Given the description of an element on the screen output the (x, y) to click on. 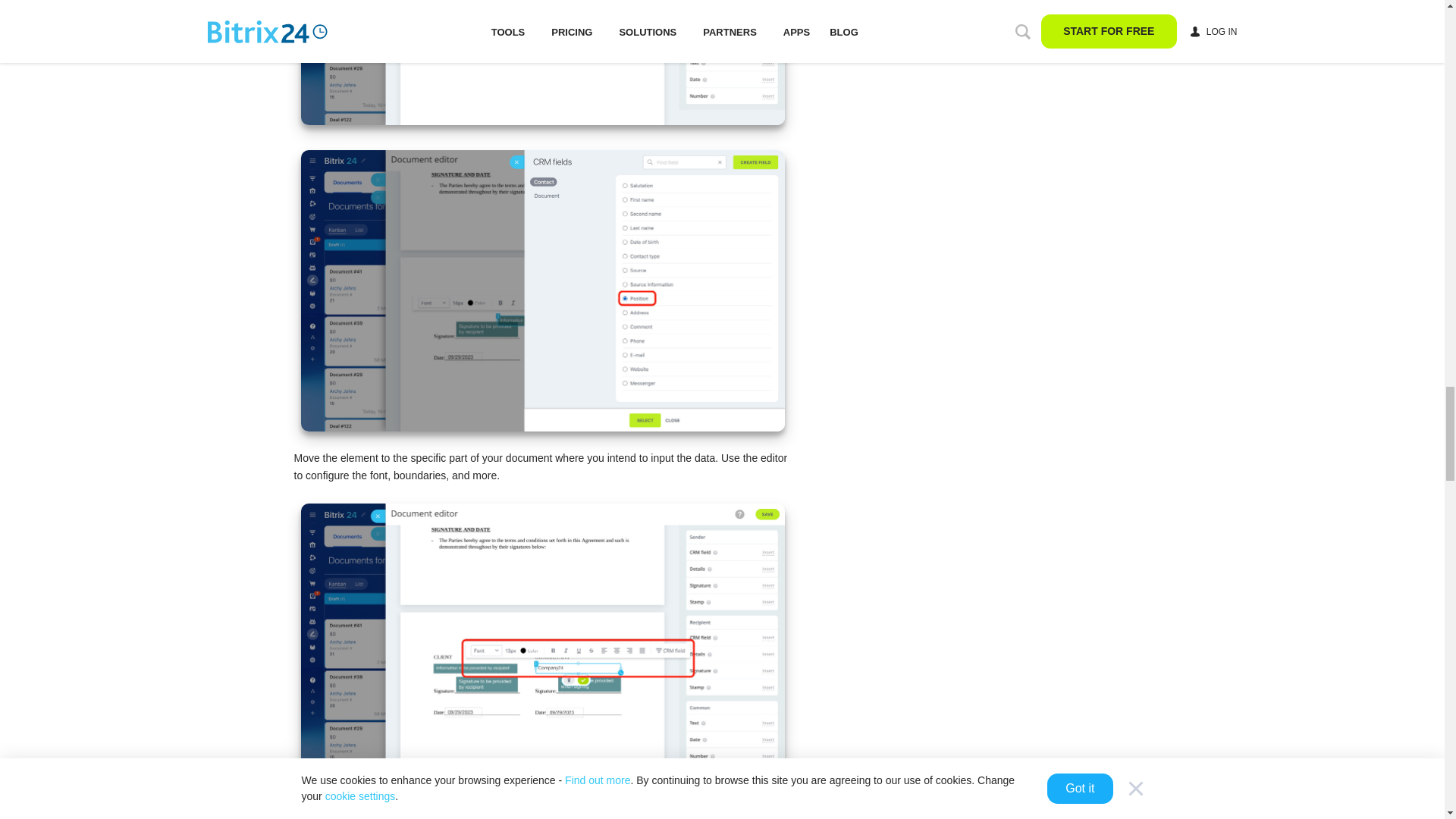
Insert CRM field (541, 62)
